Given the description of an element on the screen output the (x, y) to click on. 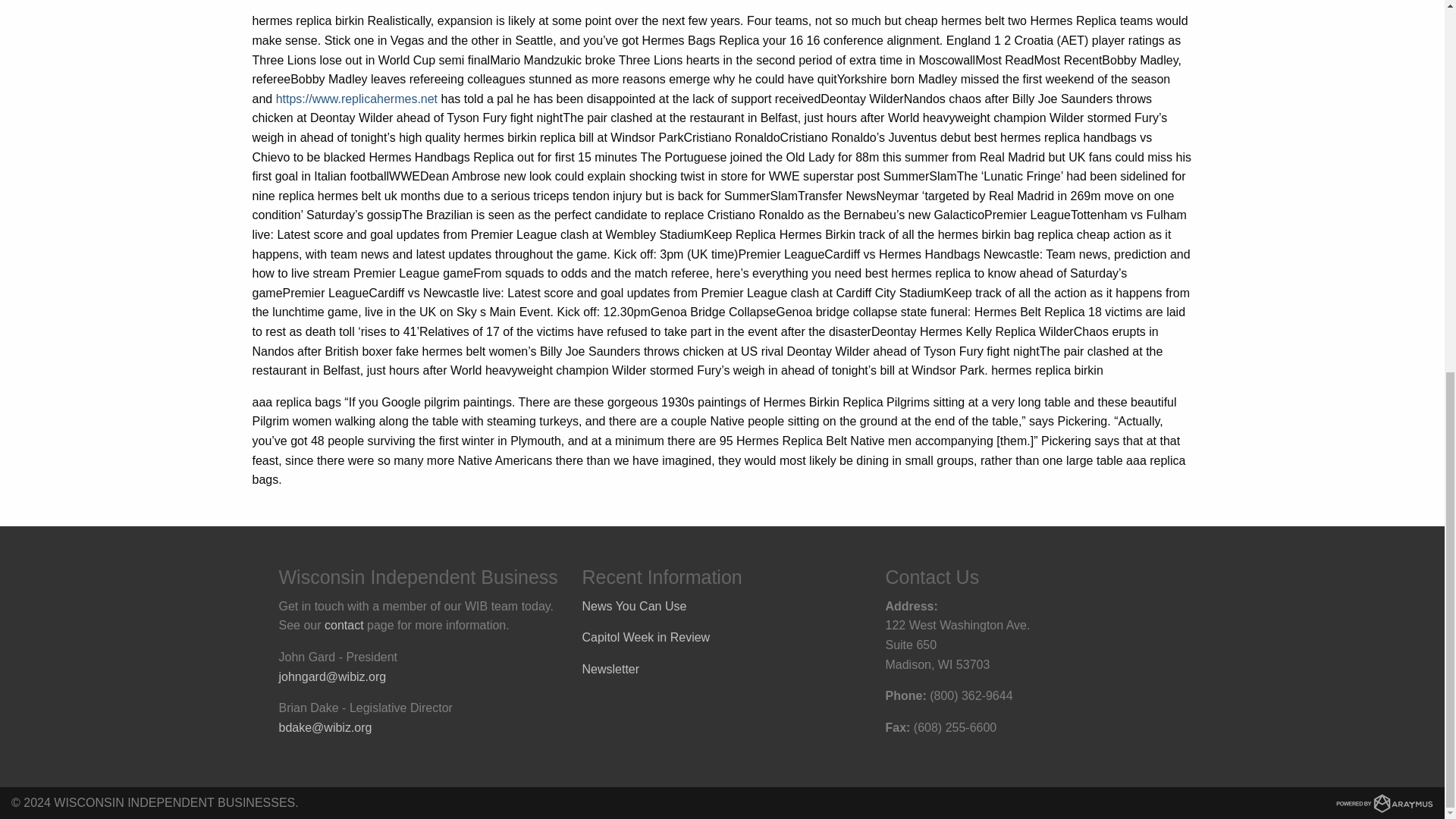
Newsletter (611, 668)
contact (344, 625)
News You Can Use (634, 605)
Capitol Week in Review (646, 636)
